Given the description of an element on the screen output the (x, y) to click on. 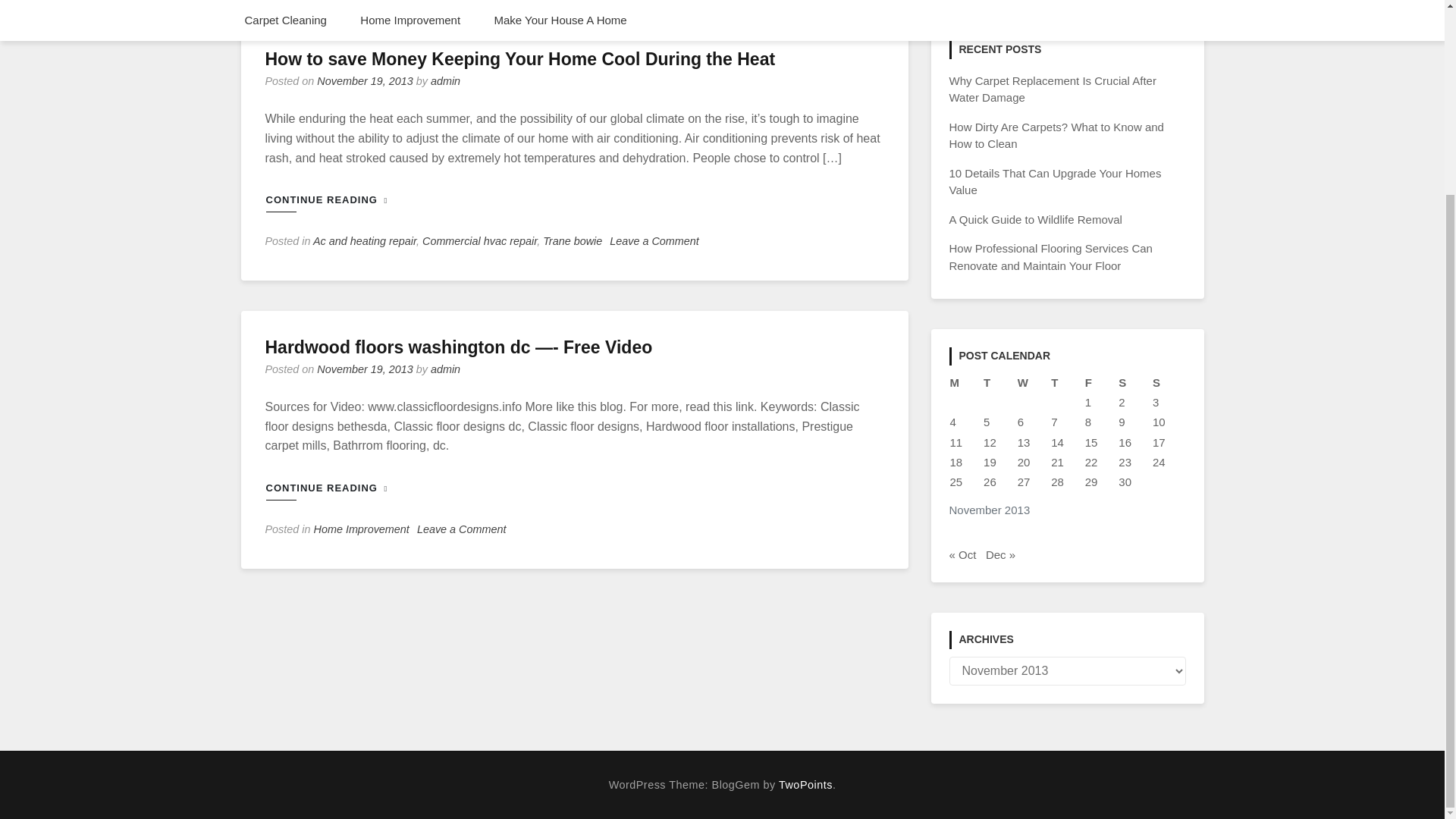
TwoPoints (805, 784)
Home Improvement (361, 529)
16 (1124, 441)
Tuesday (999, 383)
CONTINUE READING (334, 199)
Sunday (1168, 383)
Thursday (1066, 383)
14 (1057, 441)
How Dirty Are Carpets? What to Know and How to Clean (1056, 135)
admin (445, 80)
18 (955, 461)
Trane bowie (572, 241)
How to save Money Keeping Your Home Cool During the Heat (520, 58)
Commercial hvac repair (479, 241)
